Given the description of an element on the screen output the (x, y) to click on. 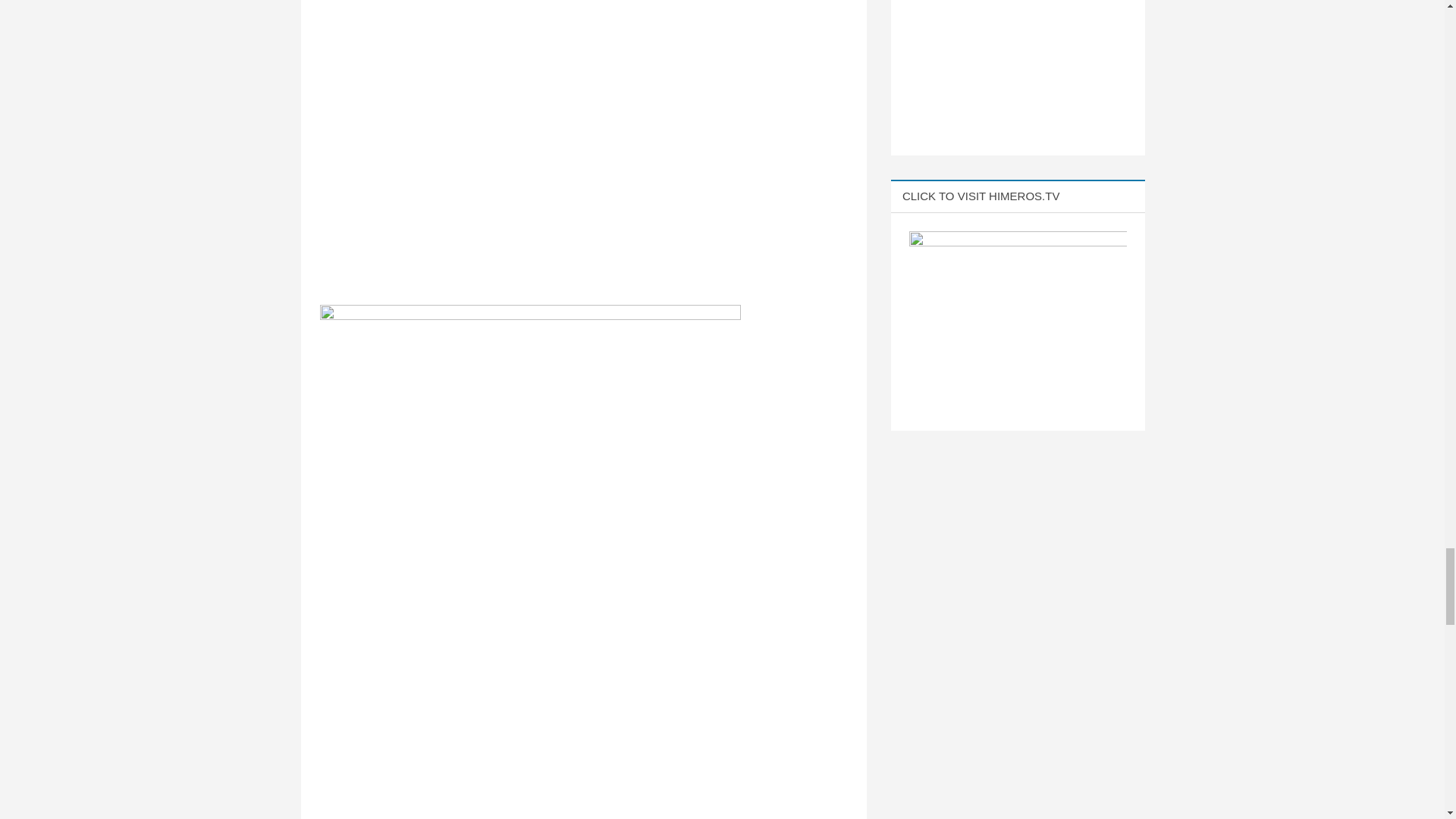
FraternityX: Party Foul (530, 142)
